Given the description of an element on the screen output the (x, y) to click on. 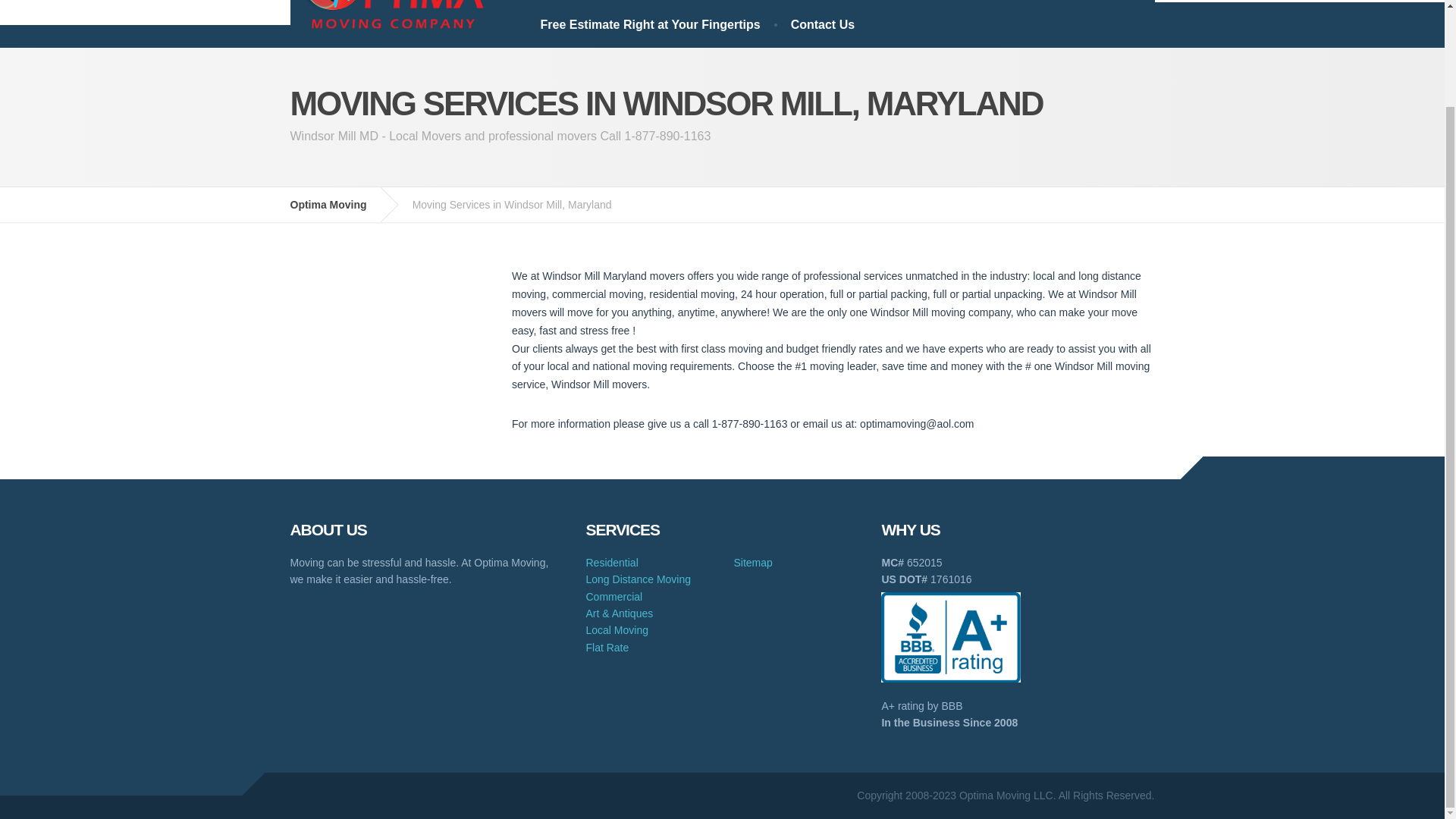
Free Estimate Right at Your Fingertips (649, 24)
Commercial (613, 596)
Home (556, 1)
Contact Us (822, 24)
Local Moving (616, 630)
Optima Moving (338, 204)
Flat Rate (606, 647)
Residential (611, 562)
Long Distance Moving (637, 579)
Go to Optima Moving. (338, 204)
